Given the description of an element on the screen output the (x, y) to click on. 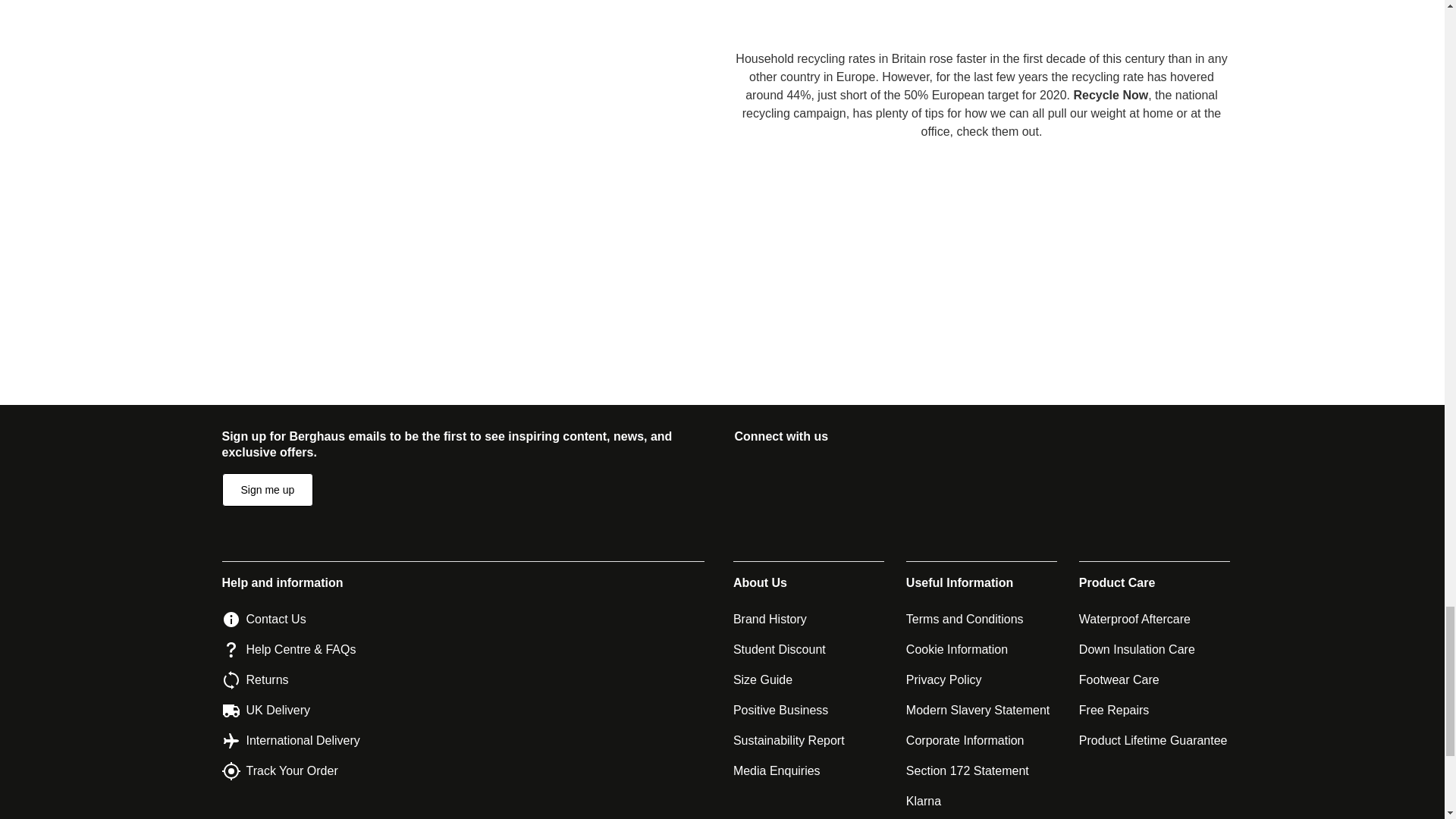
Customer reviews powered by Trustpilot (728, 282)
